Given the description of an element on the screen output the (x, y) to click on. 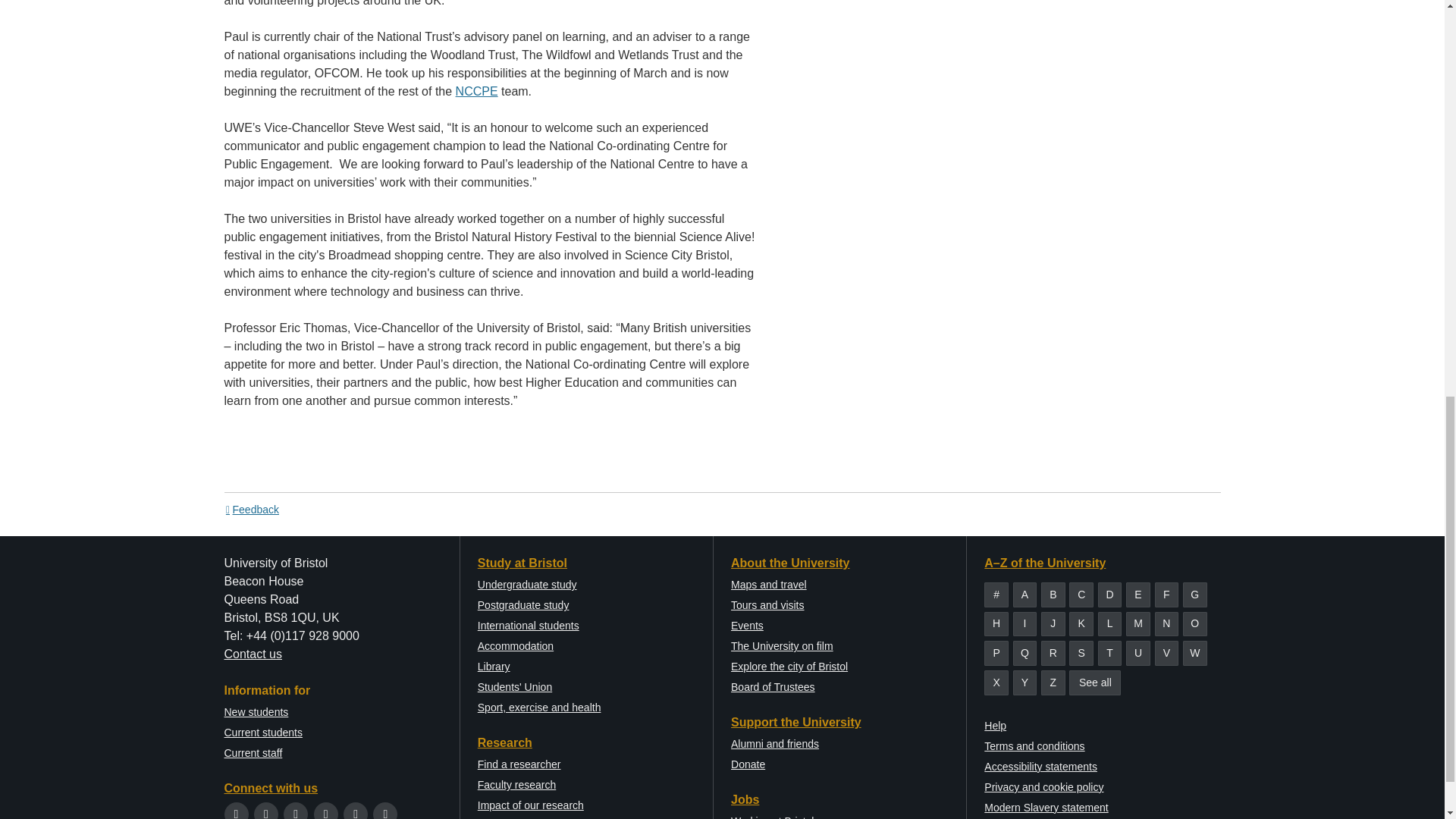
Contact us (253, 653)
LinkedIn (355, 813)
NCCPE (476, 91)
Facebook (265, 813)
Feedback (252, 509)
Instagram (295, 813)
YouTube (325, 813)
Twitter (236, 813)
New students (256, 711)
Current students (263, 732)
Flickr (384, 813)
